Given the description of an element on the screen output the (x, y) to click on. 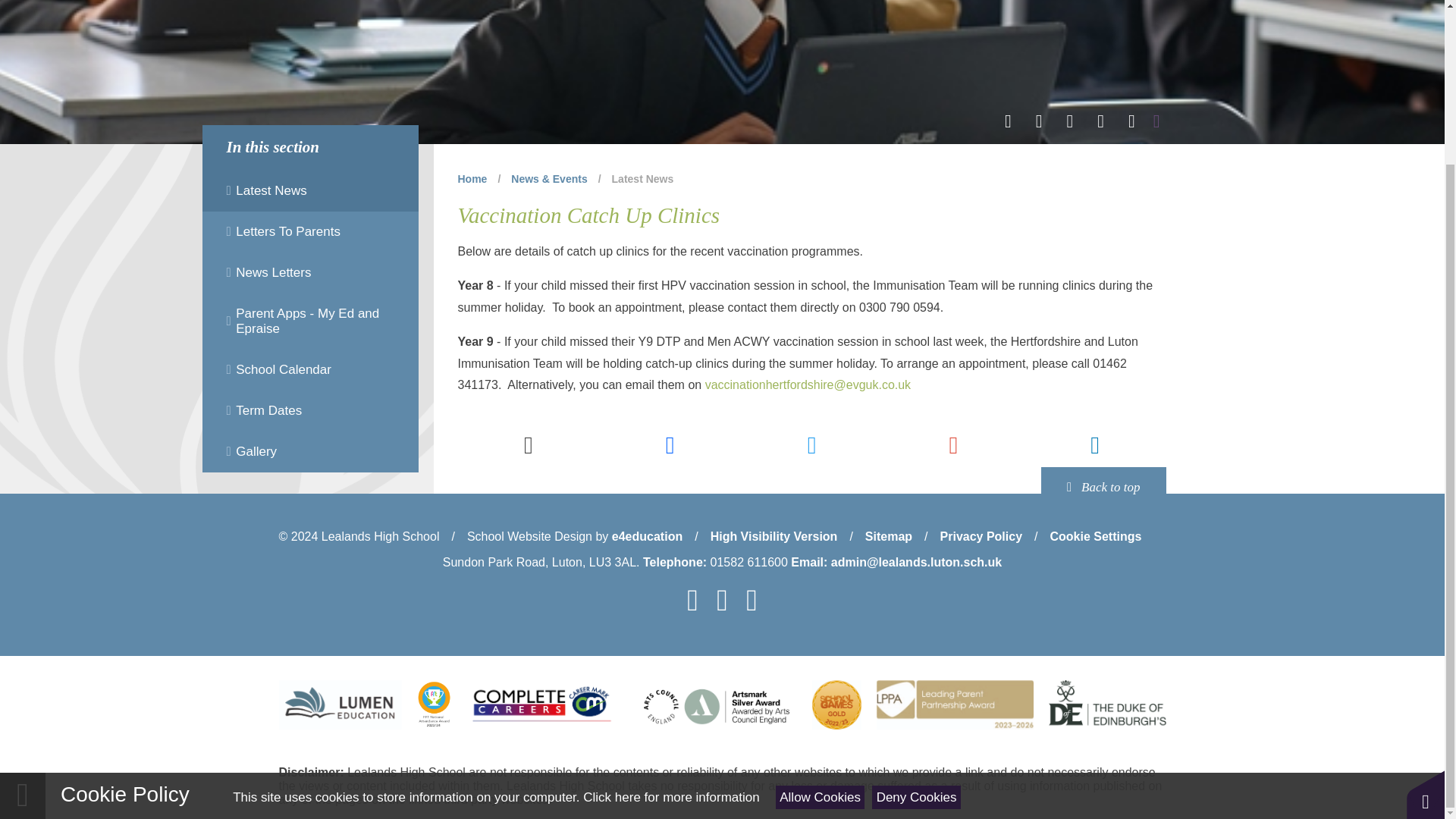
See cookie policy (670, 601)
Allow Cookies (820, 601)
Cookie Settings (1095, 535)
Deny Cookies (915, 601)
e4education (646, 535)
